Given the description of an element on the screen output the (x, y) to click on. 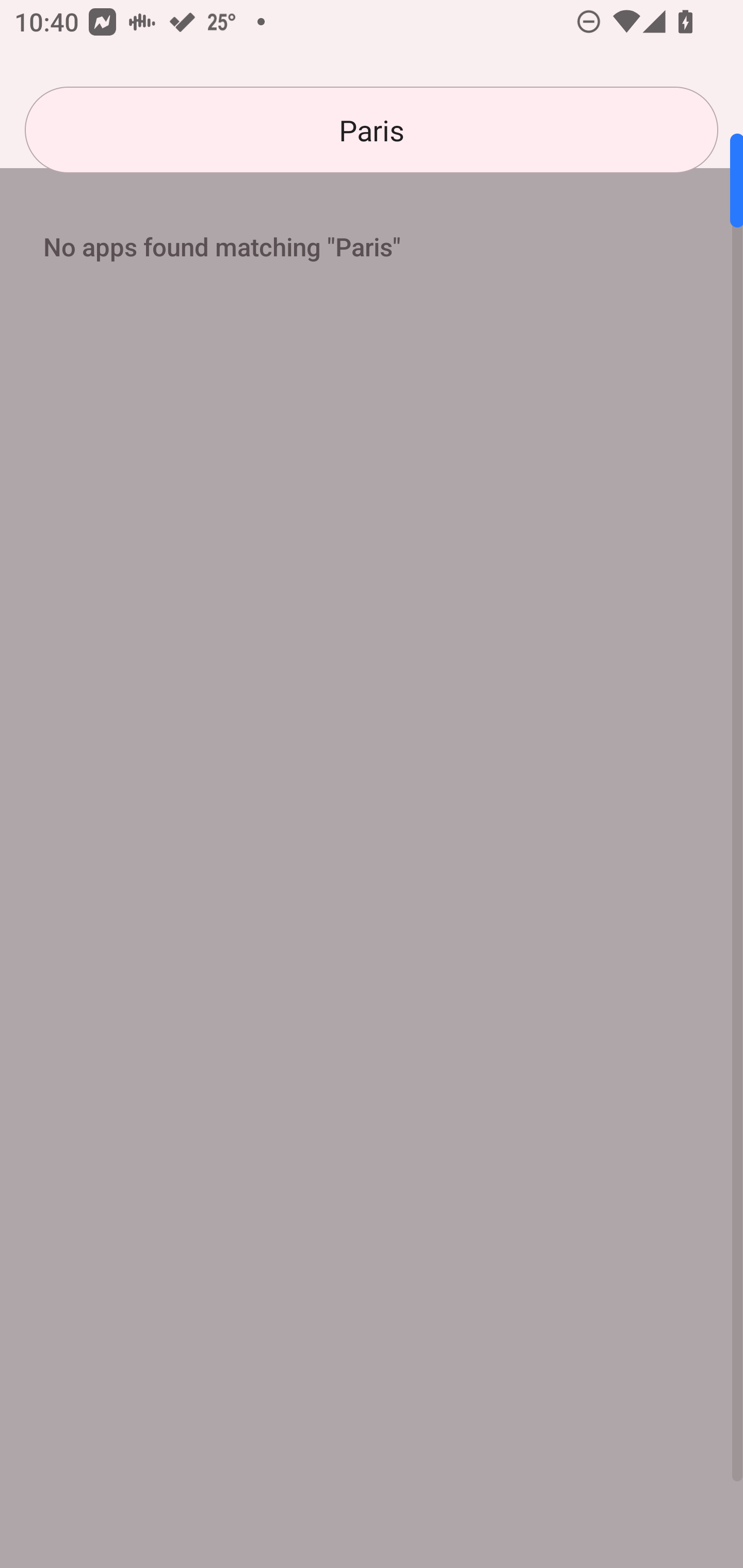
Paris (371, 130)
